Given the description of an element on the screen output the (x, y) to click on. 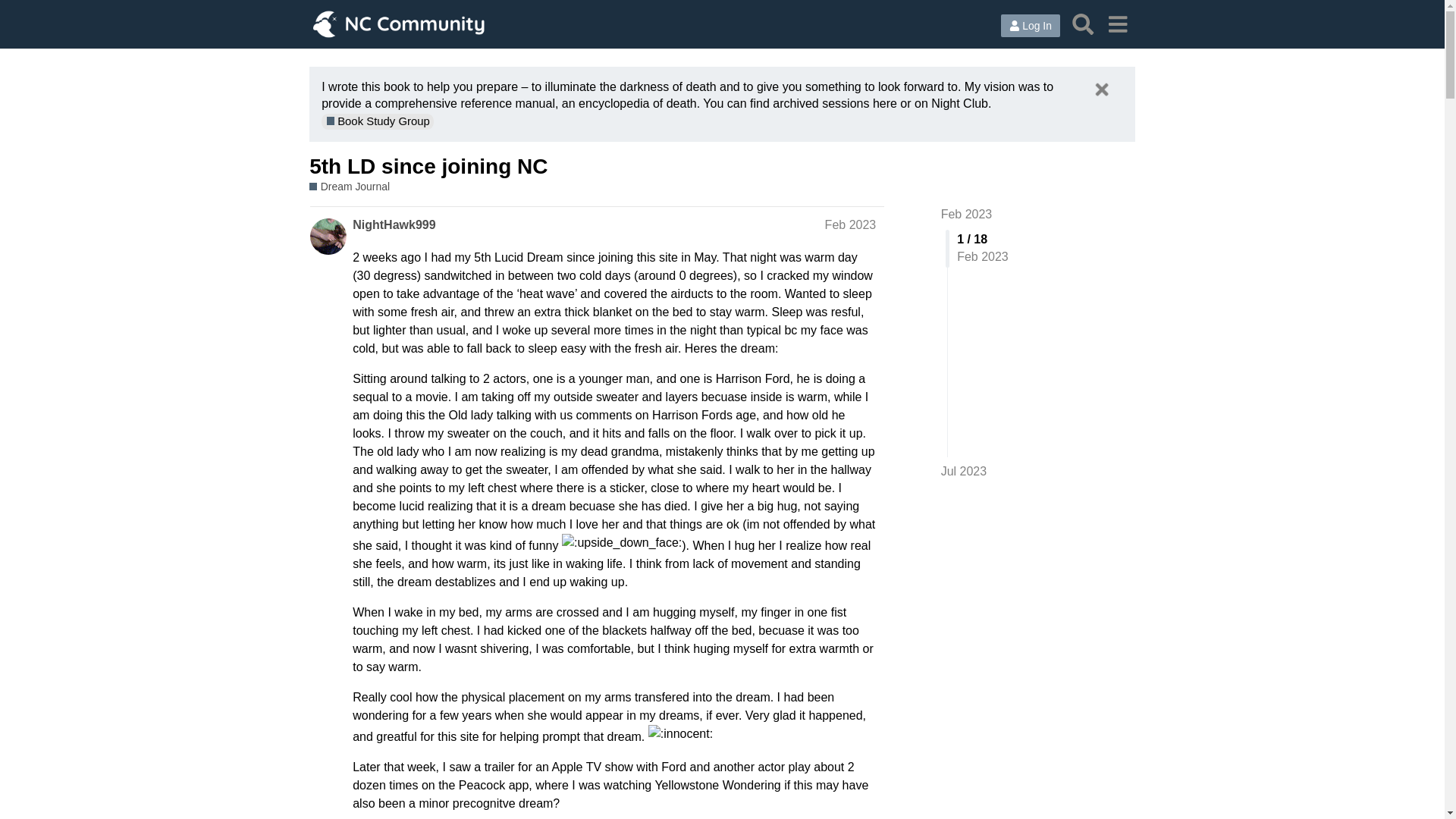
Post date (850, 224)
Feb 2023 (966, 214)
Jul 2023 (963, 471)
Jump to the last post (963, 471)
menu (1117, 23)
NightHawk999 (393, 225)
Search (1082, 23)
Dismiss this banner (1101, 88)
Book Study Group (377, 121)
Log In (1030, 25)
